Given the description of an element on the screen output the (x, y) to click on. 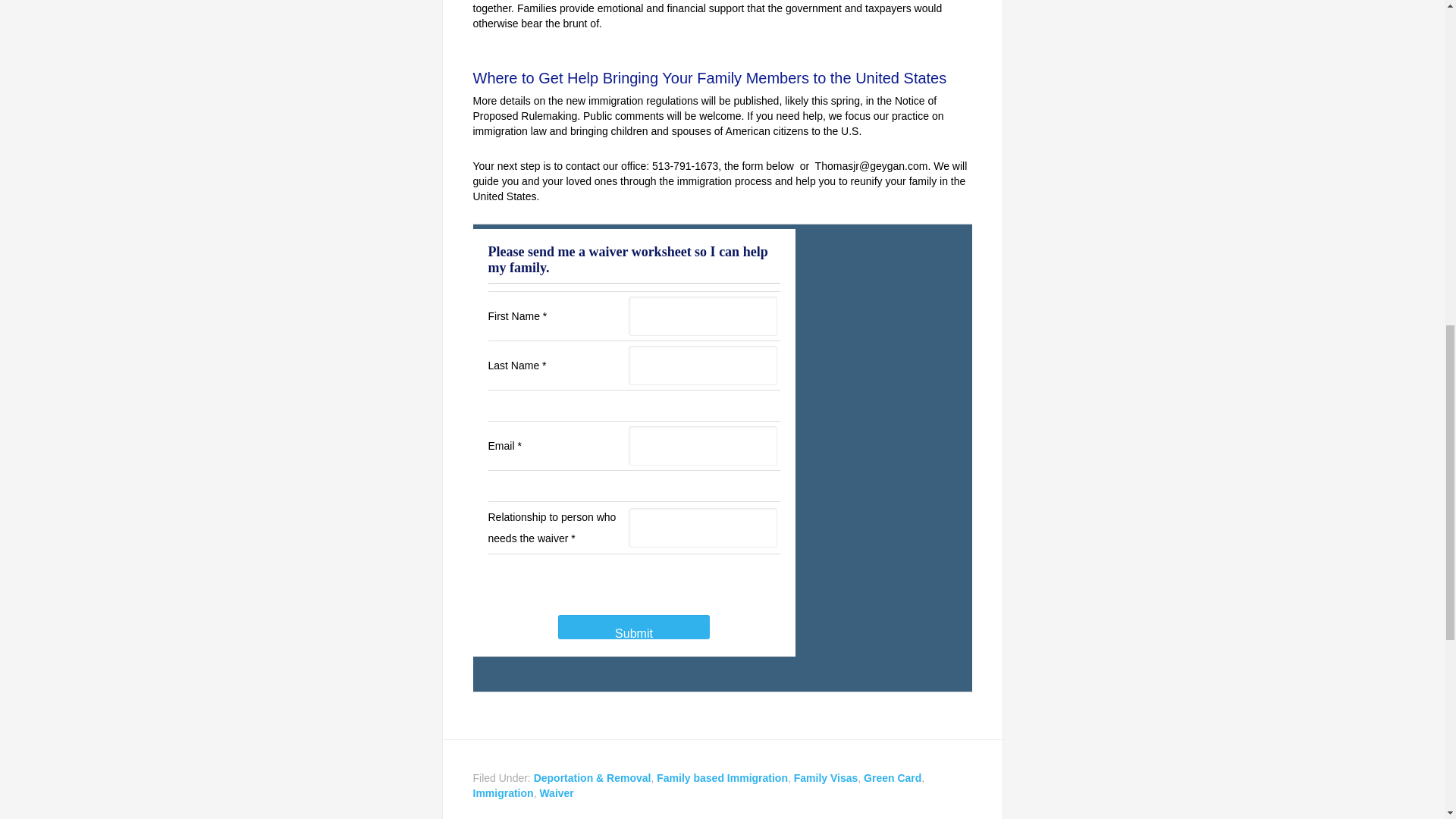
Submit (633, 627)
Waiver (555, 793)
Submit (633, 627)
Green Card (892, 777)
Family Visas (826, 777)
Family based Immigration (721, 777)
Immigration (503, 793)
